Given the description of an element on the screen output the (x, y) to click on. 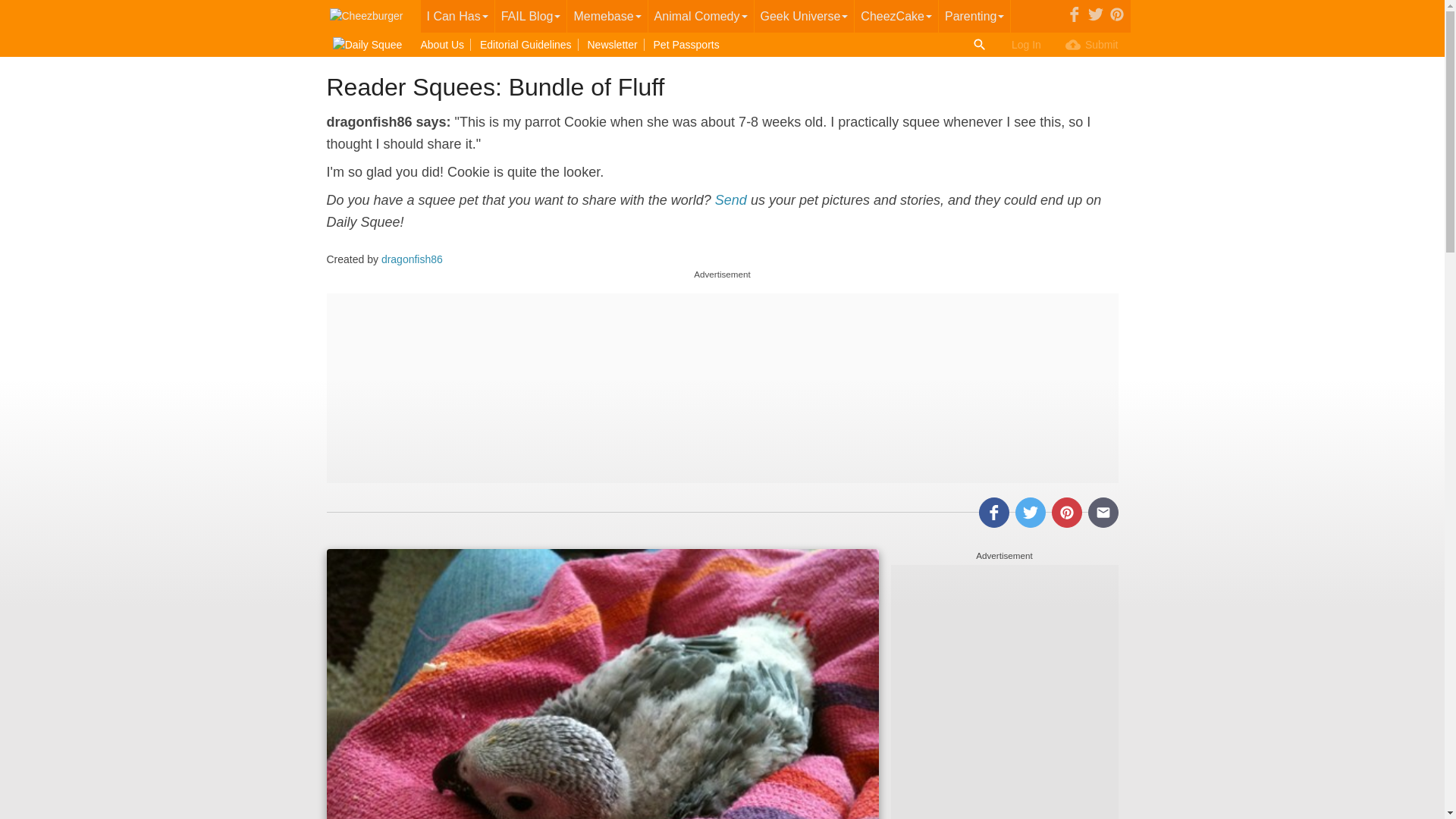
FAIL Blog (531, 16)
World's largest collection of cat memes and other animals (456, 16)
I Can Has (456, 16)
Cheezburger Homepage (367, 16)
Memebase (606, 16)
Animal Comedy (700, 16)
